Given the description of an element on the screen output the (x, y) to click on. 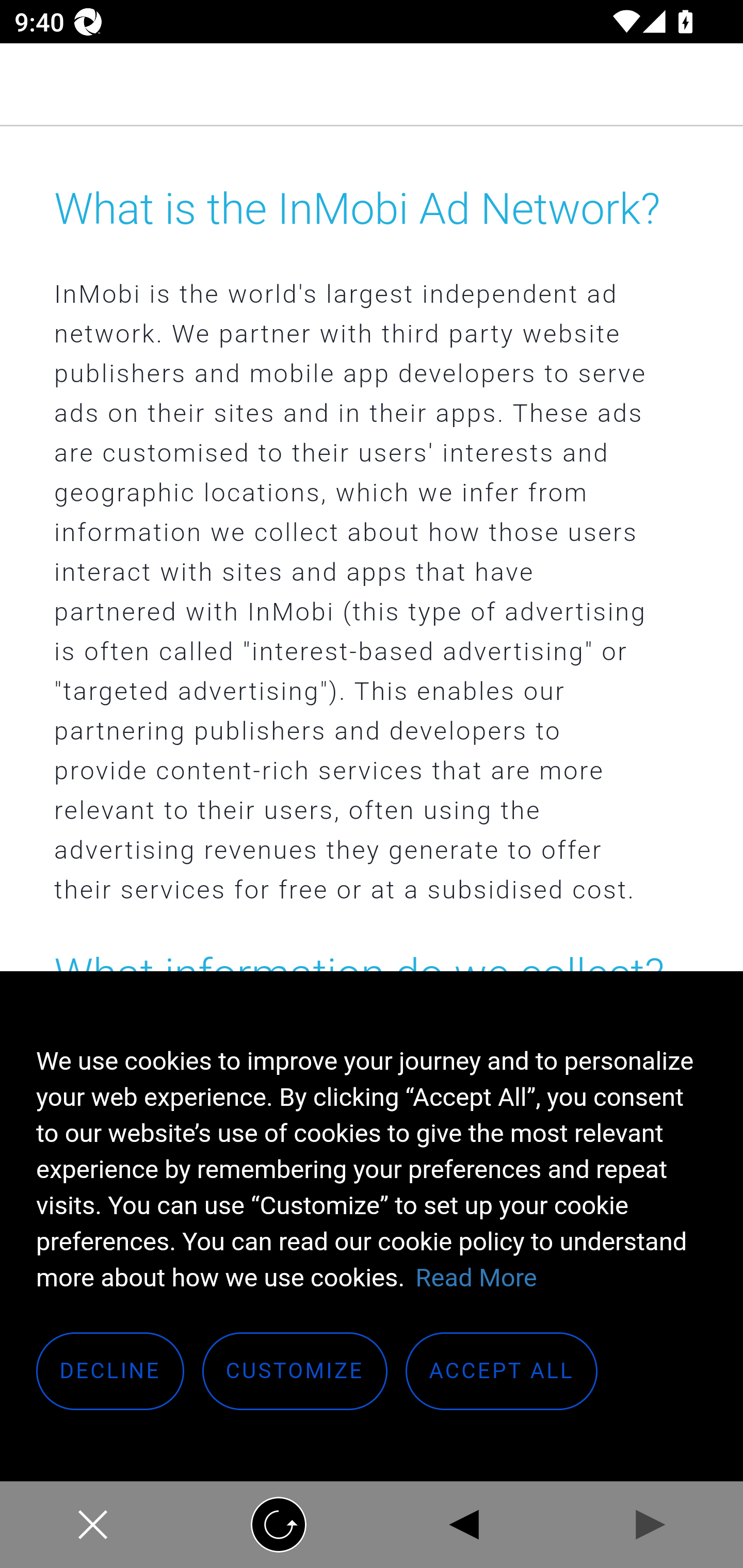
www.inmobi (371, 84)
Read More (476, 1277)
DECLINE (110, 1371)
CUSTOMIZE (294, 1371)
ACCEPT ALL (501, 1371)
